Given the description of an element on the screen output the (x, y) to click on. 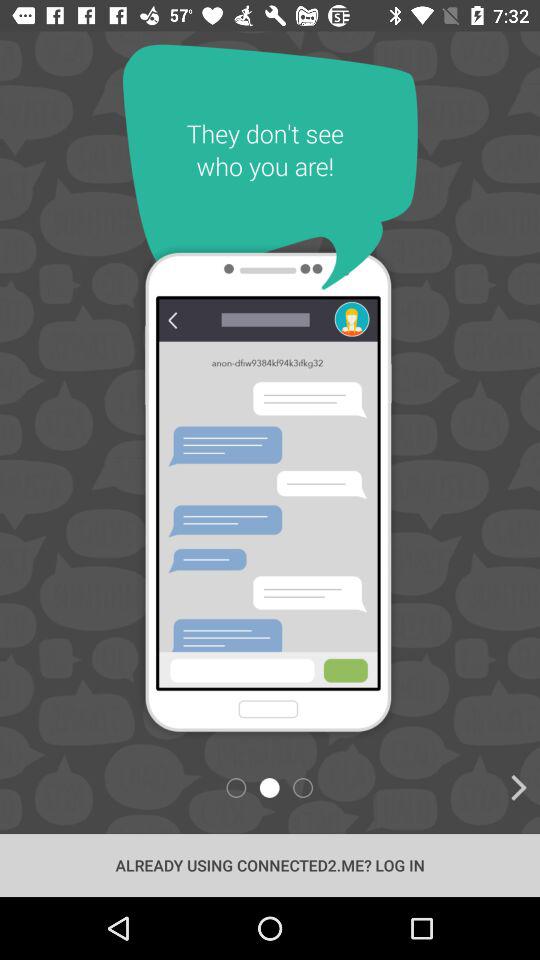
turn on already using connected2 icon (270, 864)
